Given the description of an element on the screen output the (x, y) to click on. 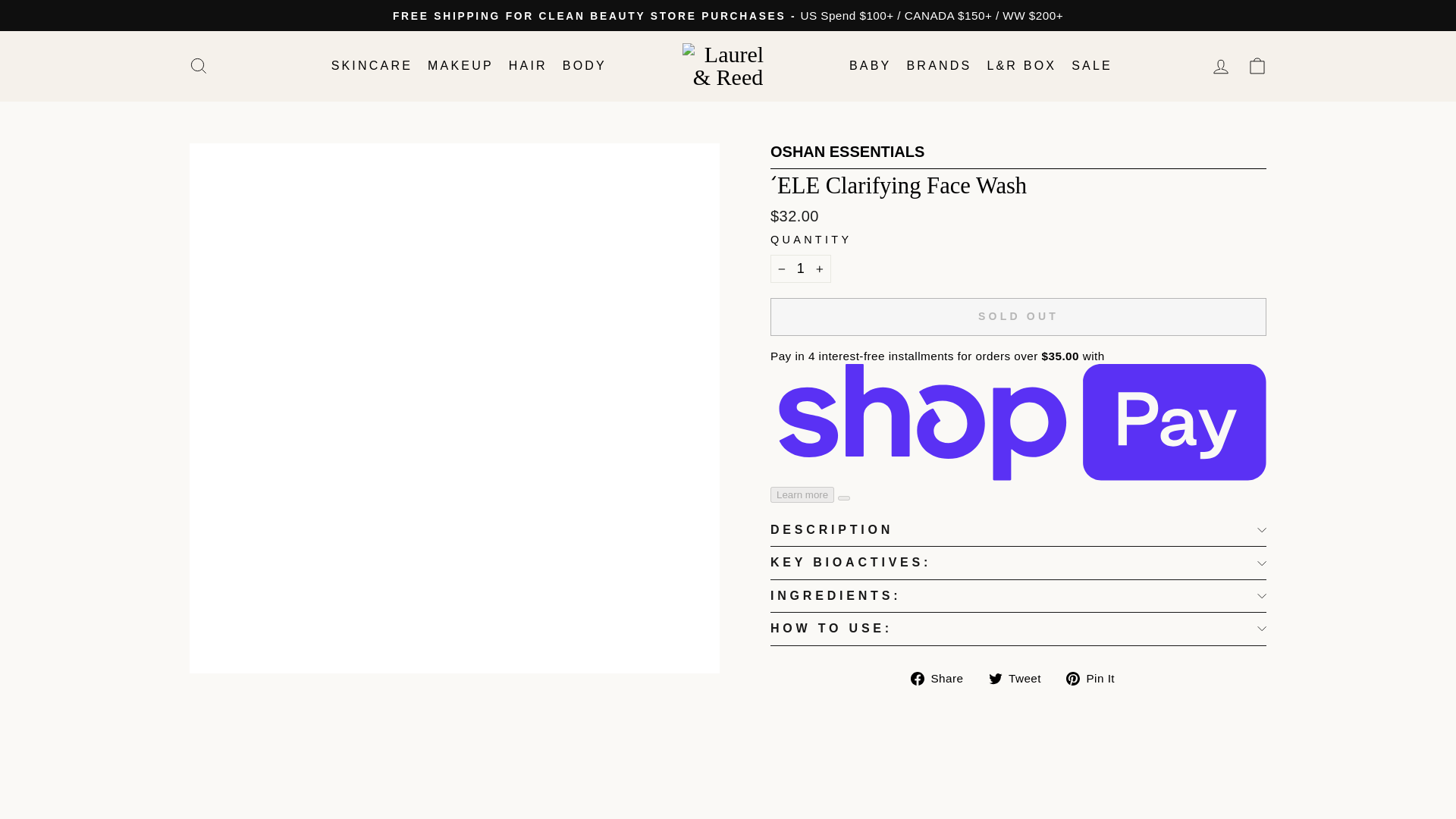
Tweet on Twitter (1020, 678)
Share on Facebook (943, 678)
1 (800, 268)
Pin on Pinterest (1095, 678)
